Given the description of an element on the screen output the (x, y) to click on. 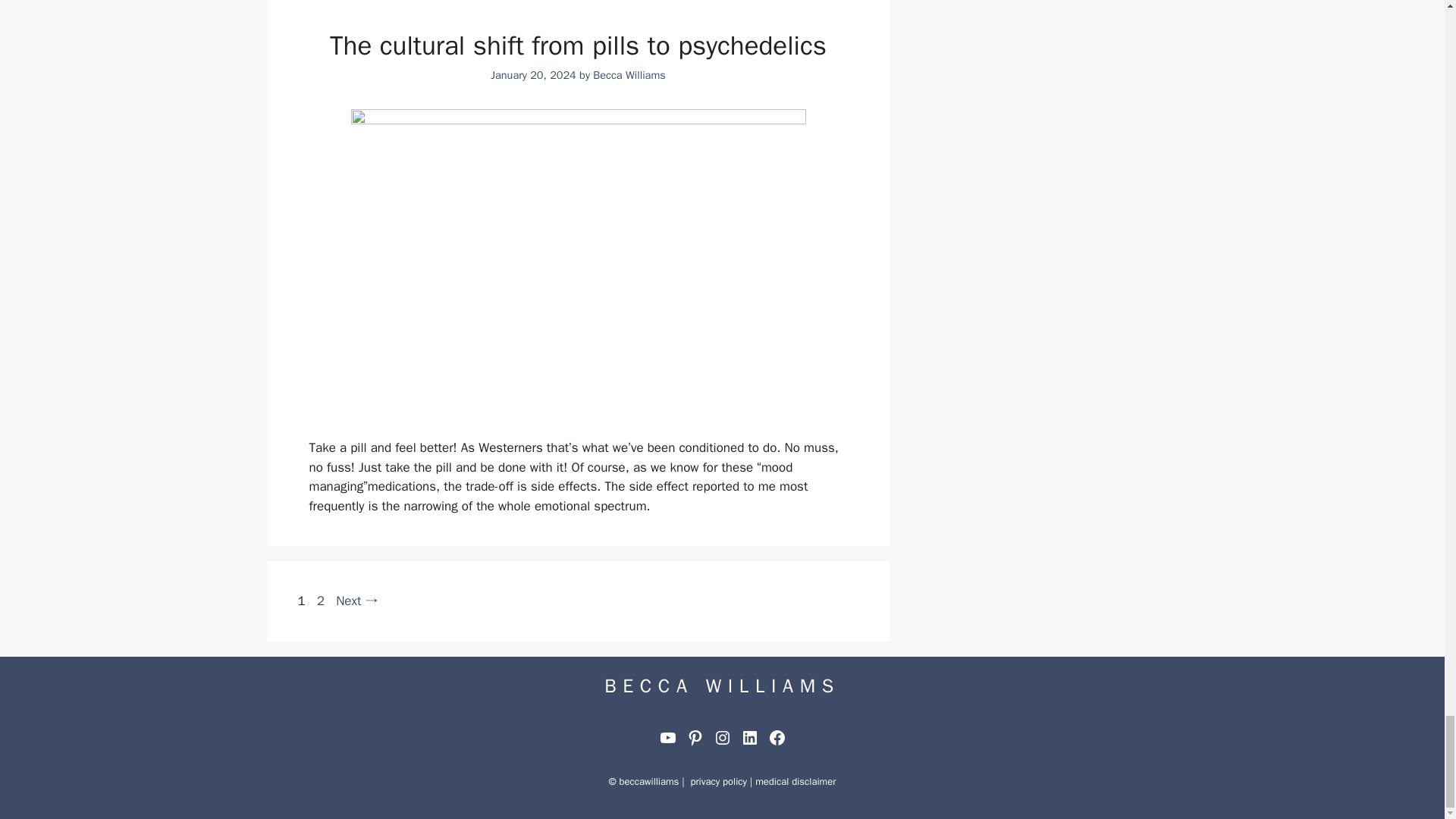
View all posts by Becca Williams (628, 74)
